Given the description of an element on the screen output the (x, y) to click on. 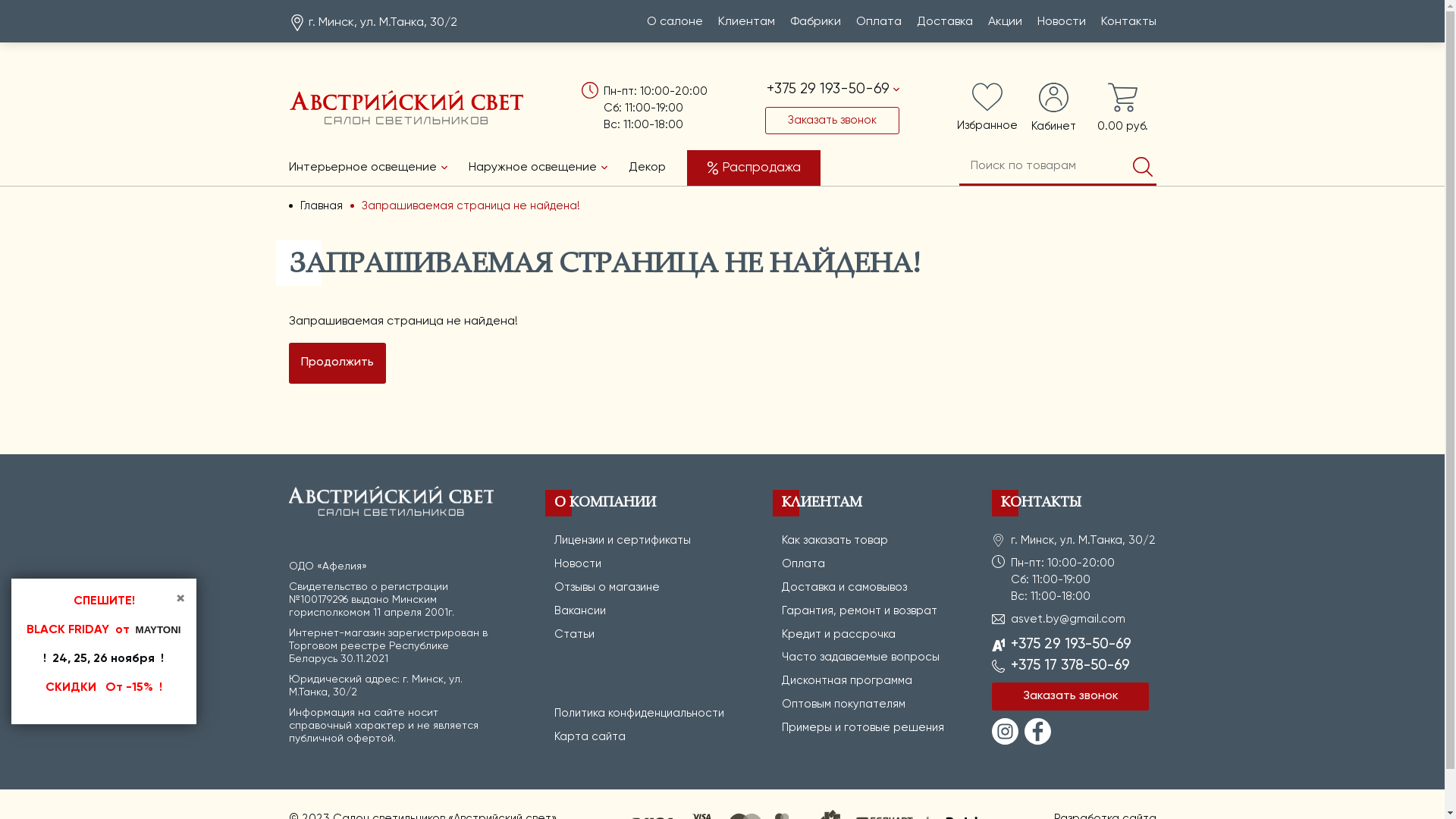
asvet.by@gmail.com Element type: text (1067, 618)
+375 29 193-50-69 Element type: text (1070, 644)
+375 17 378-50-69 Element type: text (1069, 665)
+375 29 193-50-69 Element type: text (832, 88)
